Given the description of an element on the screen output the (x, y) to click on. 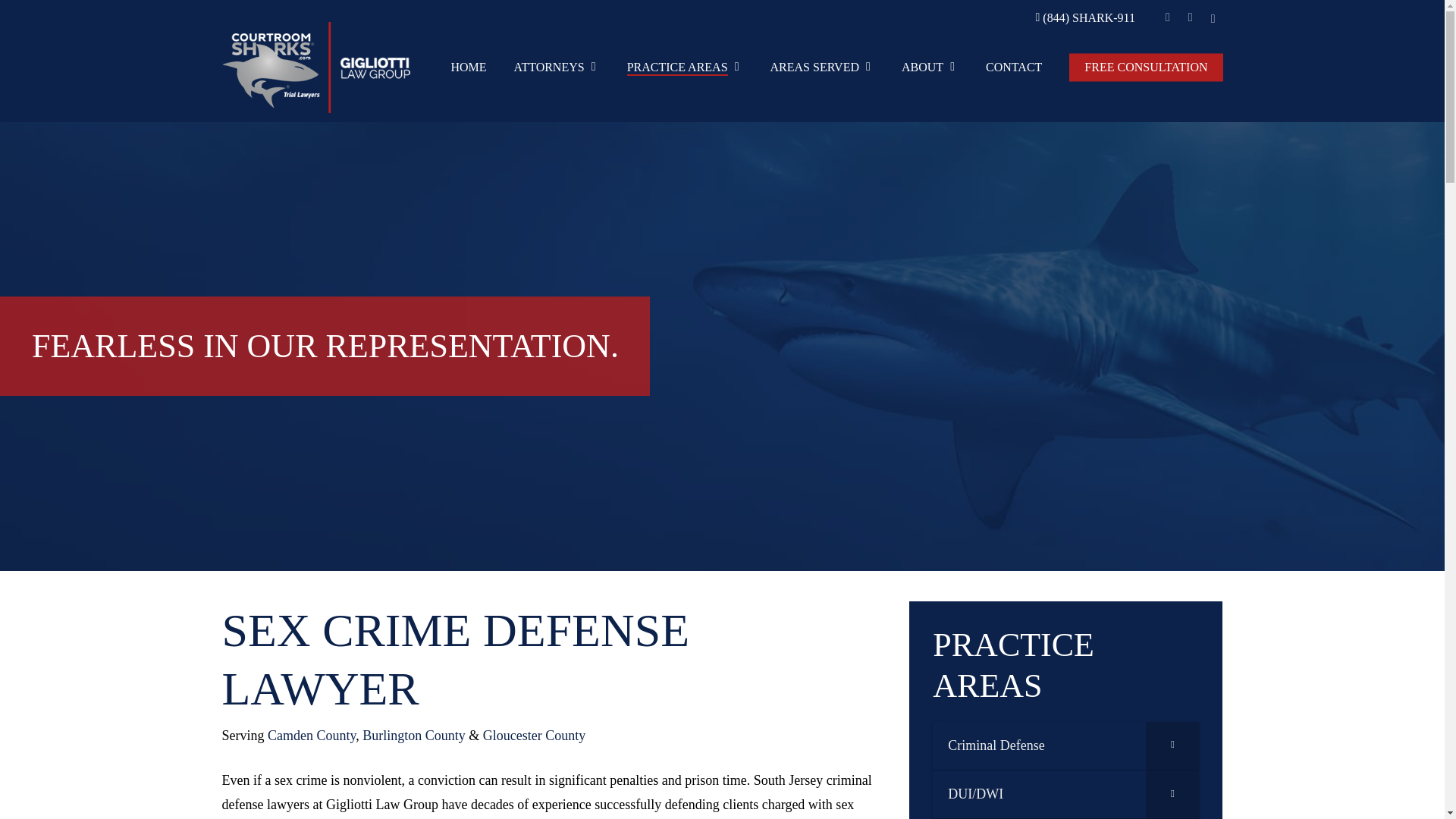
HOME (467, 67)
ATTORNEYS (556, 67)
PRACTICE AREAS (684, 67)
